Given the description of an element on the screen output the (x, y) to click on. 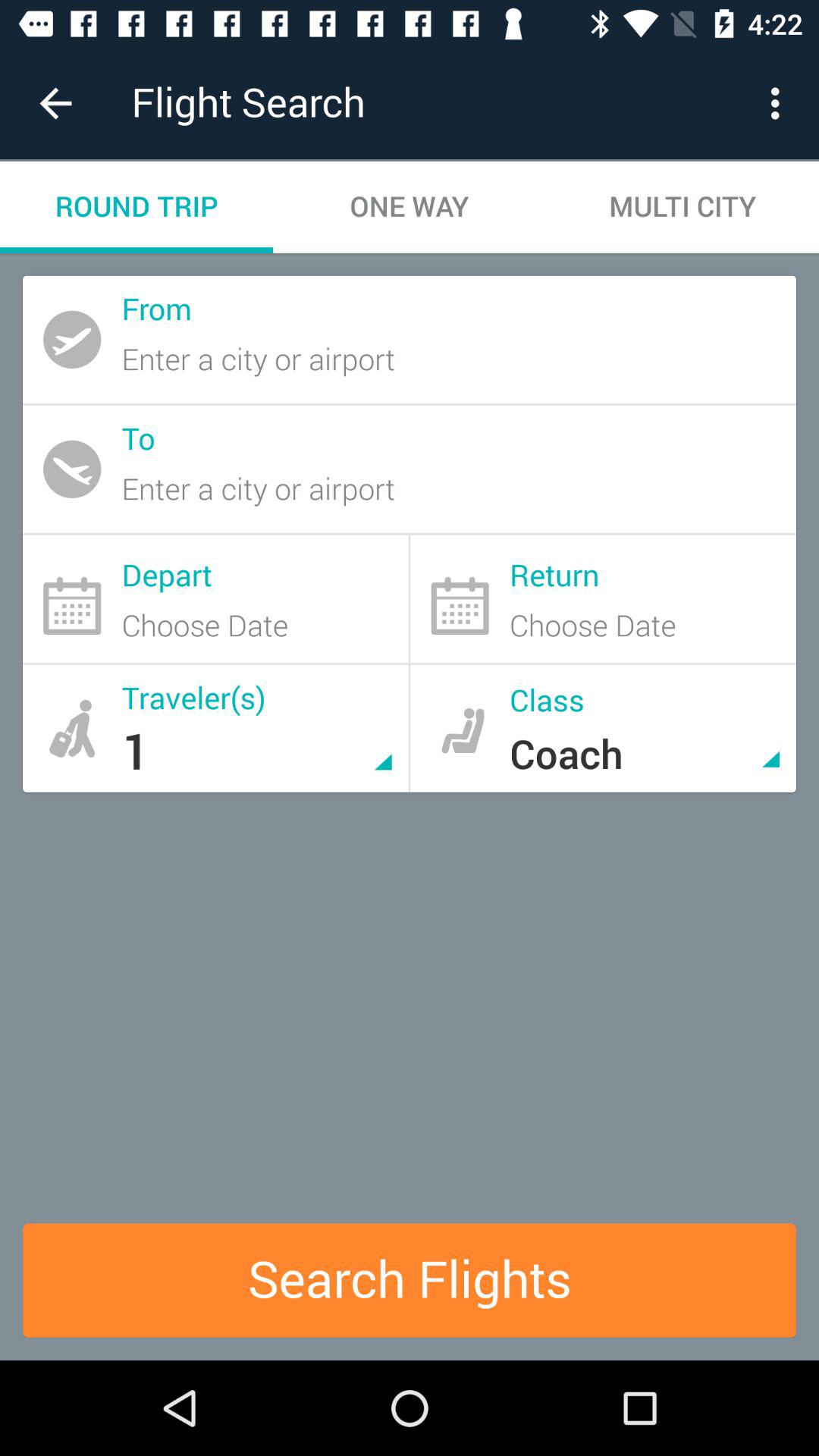
turn on the item to the right of the one way item (682, 207)
